Given the description of an element on the screen output the (x, y) to click on. 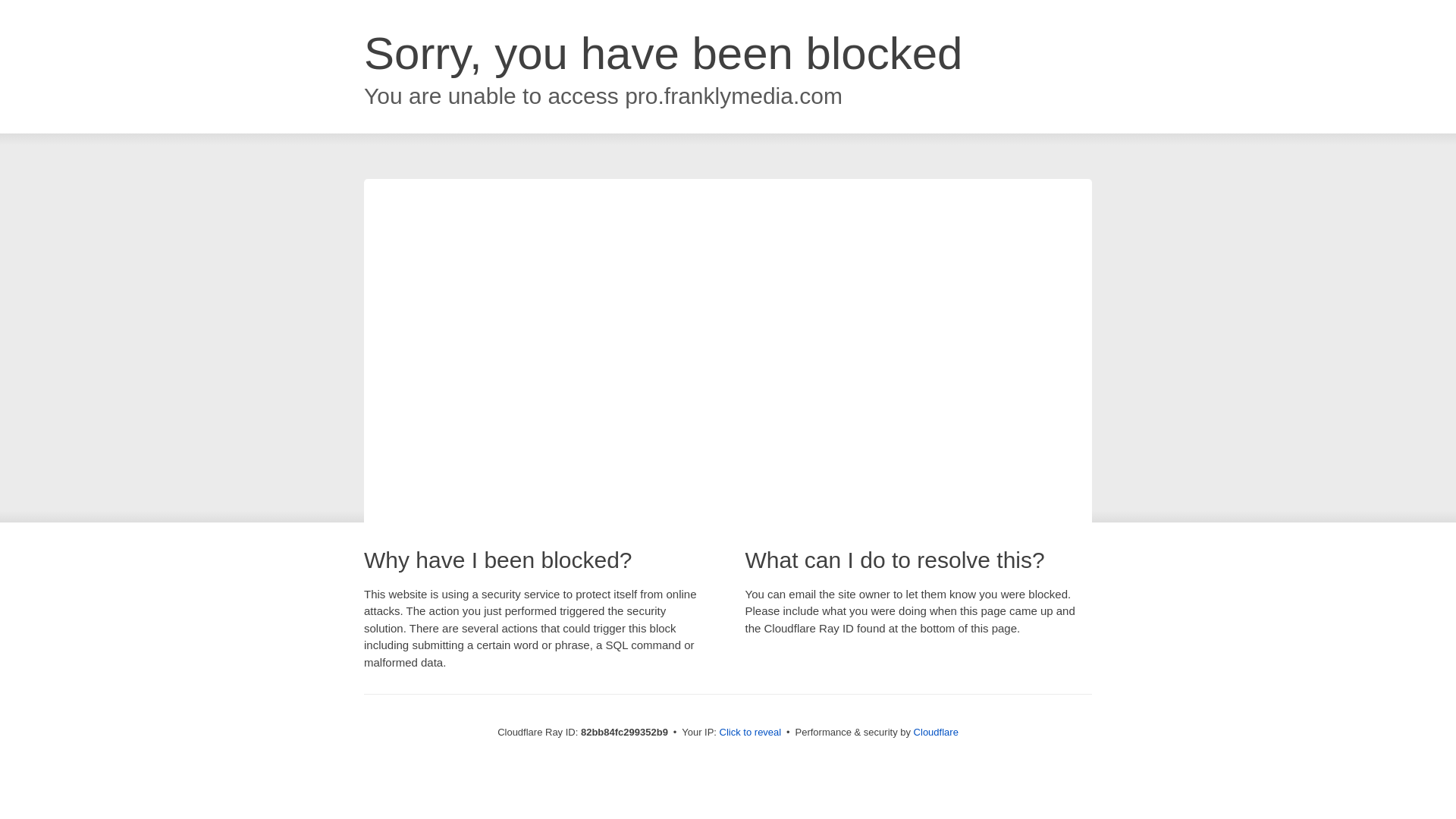
Cloudflare Element type: text (935, 731)
Click to reveal Element type: text (750, 732)
